Given the description of an element on the screen output the (x, y) to click on. 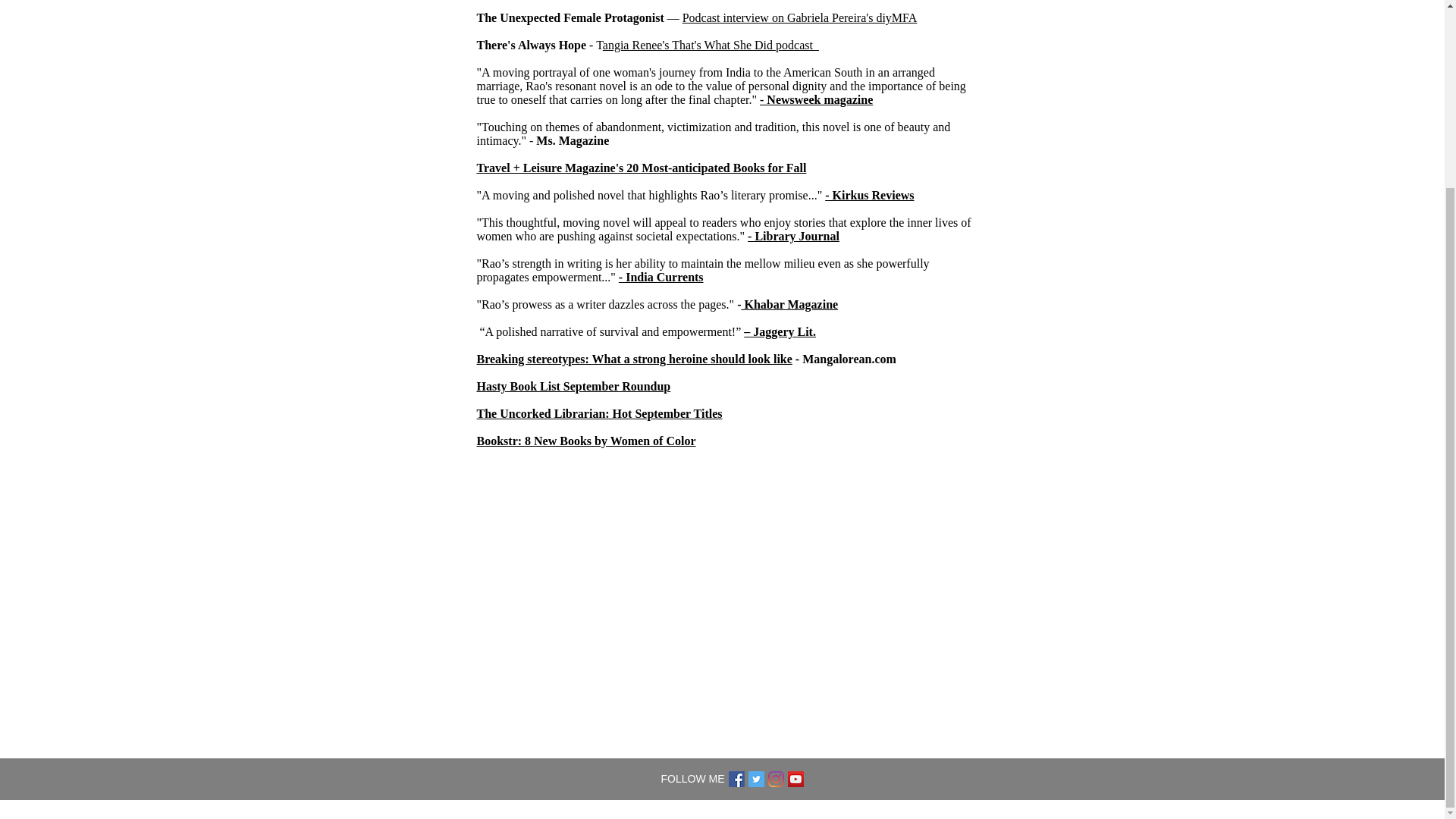
- Newsweek magazine (816, 99)
Khabar Magazine (789, 304)
Hasty Book List September Roundup (572, 386)
Podcast interview on Gabriela Pereira's diyMFA (799, 17)
The Uncorked Librarian: Hot September Titles (599, 413)
Bookstr: 8 New Books by Women of Color (585, 440)
angia Renee's That's What She Did podcast   (710, 44)
- India Currents (660, 277)
Breaking stereotypes: What a strong heroine should look like (634, 358)
Wix.com (820, 810)
- Kirkus Reviews (869, 195)
- Library Journal (794, 236)
